Given the description of an element on the screen output the (x, y) to click on. 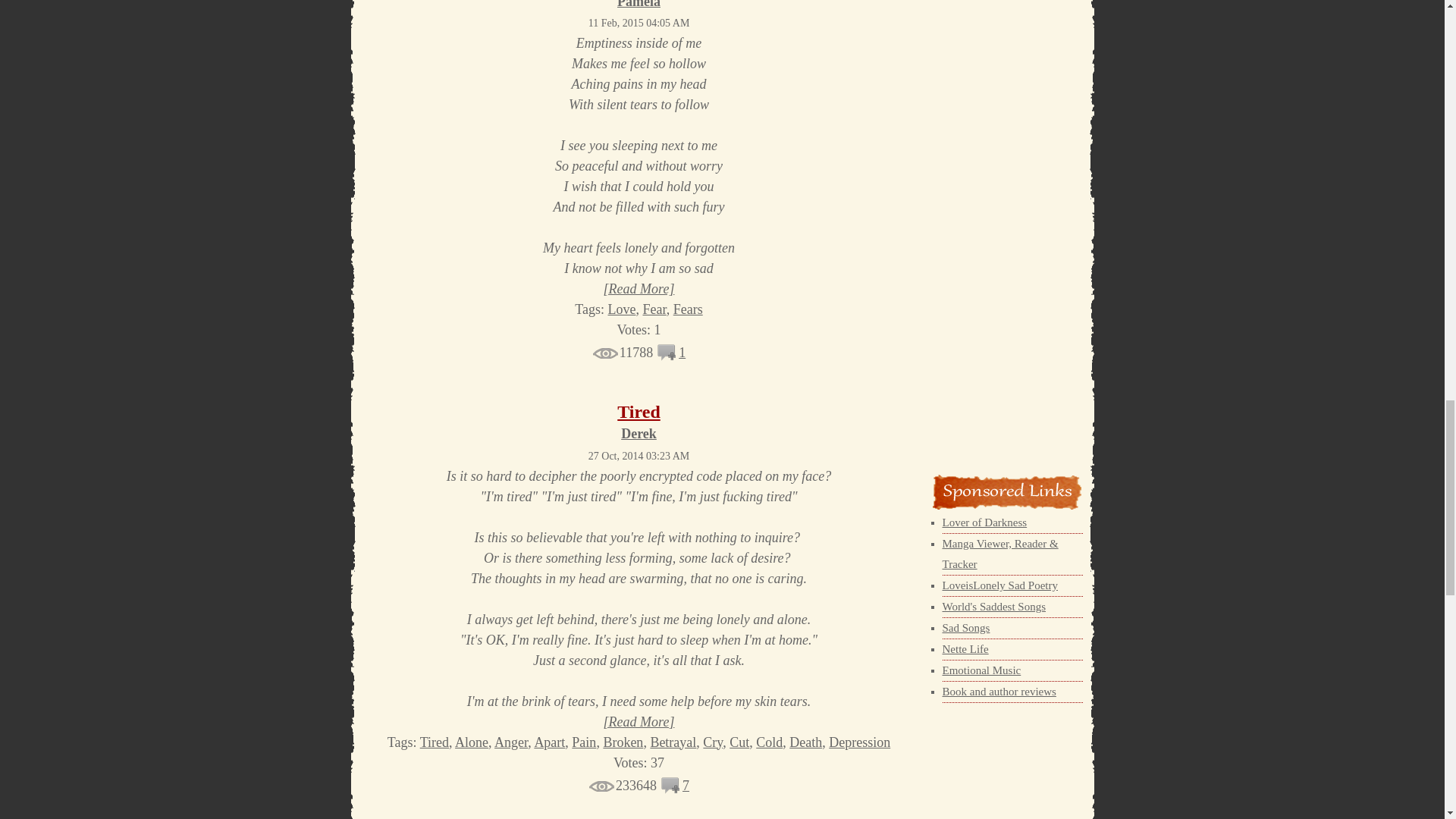
Read Comments (685, 785)
Total Visited 233648 Times (622, 785)
Total Visited 11788 Times (622, 352)
Post a comment (667, 355)
Read Comments (681, 352)
Post a comment (670, 789)
